Given the description of an element on the screen output the (x, y) to click on. 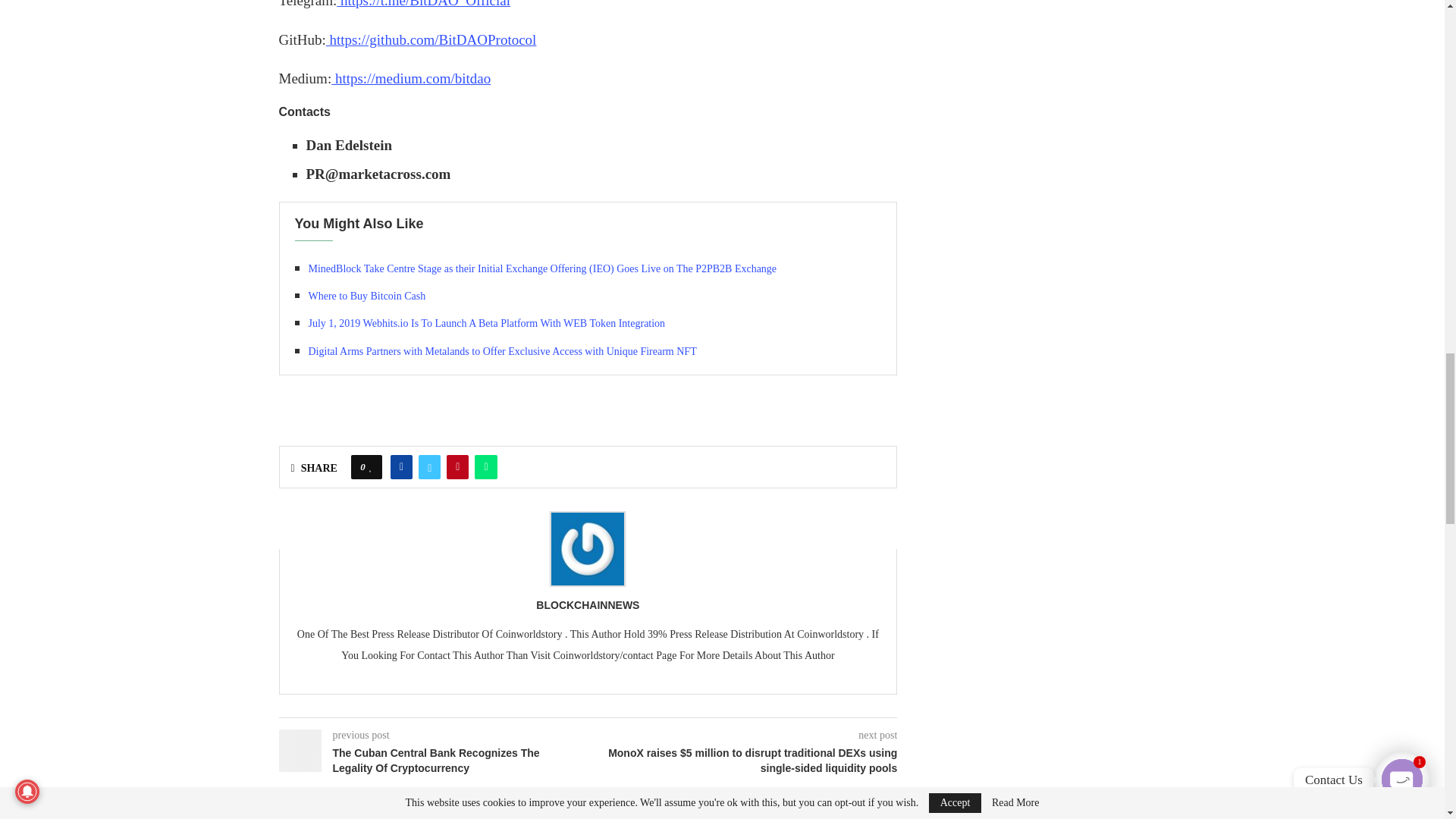
Author Blockchainnews (587, 605)
Like (370, 467)
